Given the description of an element on the screen output the (x, y) to click on. 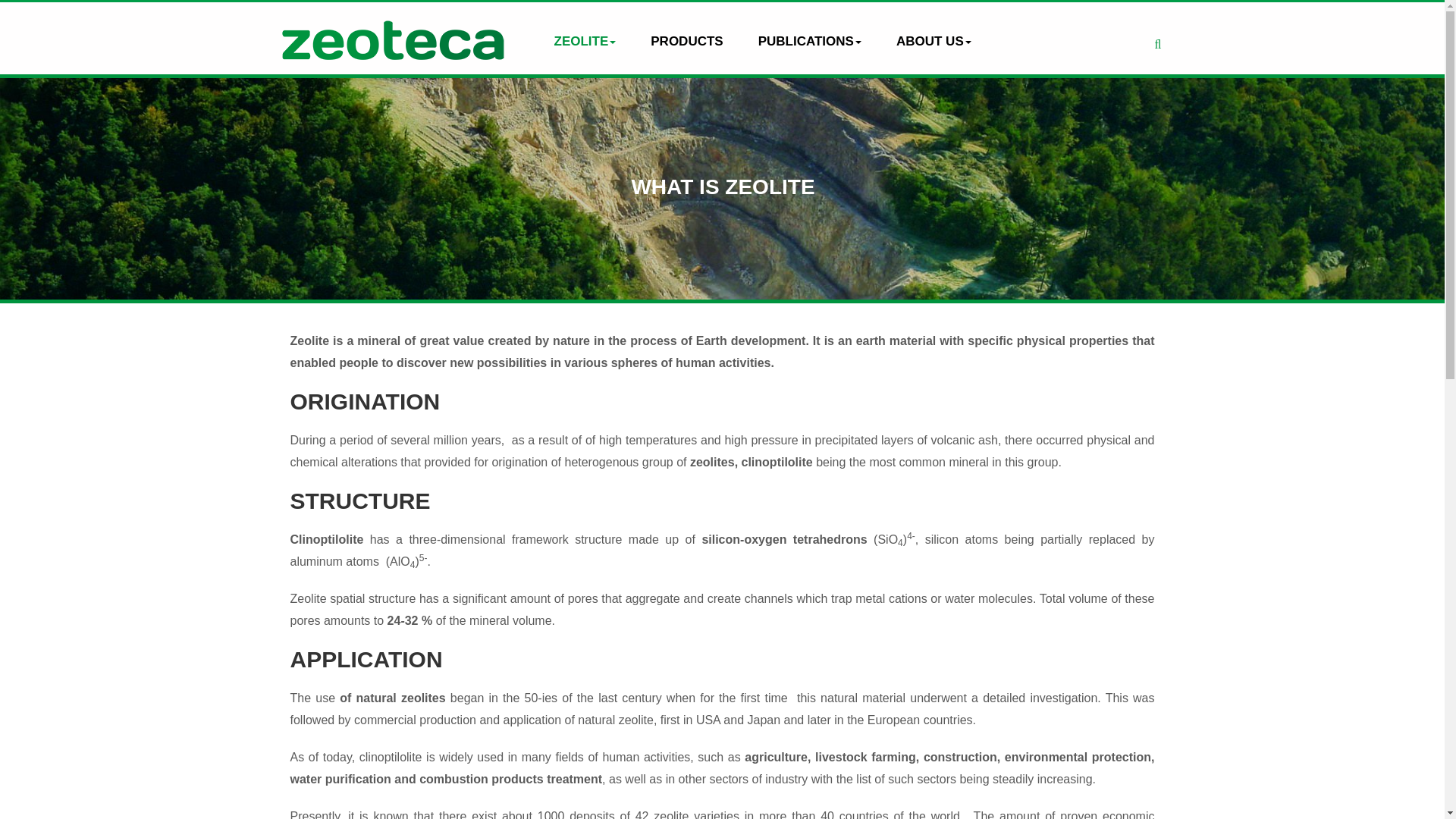
PUBLICATIONS (809, 41)
ABOUT US (933, 41)
ZEOLITE (585, 41)
PRODUCTS (686, 41)
